Given the description of an element on the screen output the (x, y) to click on. 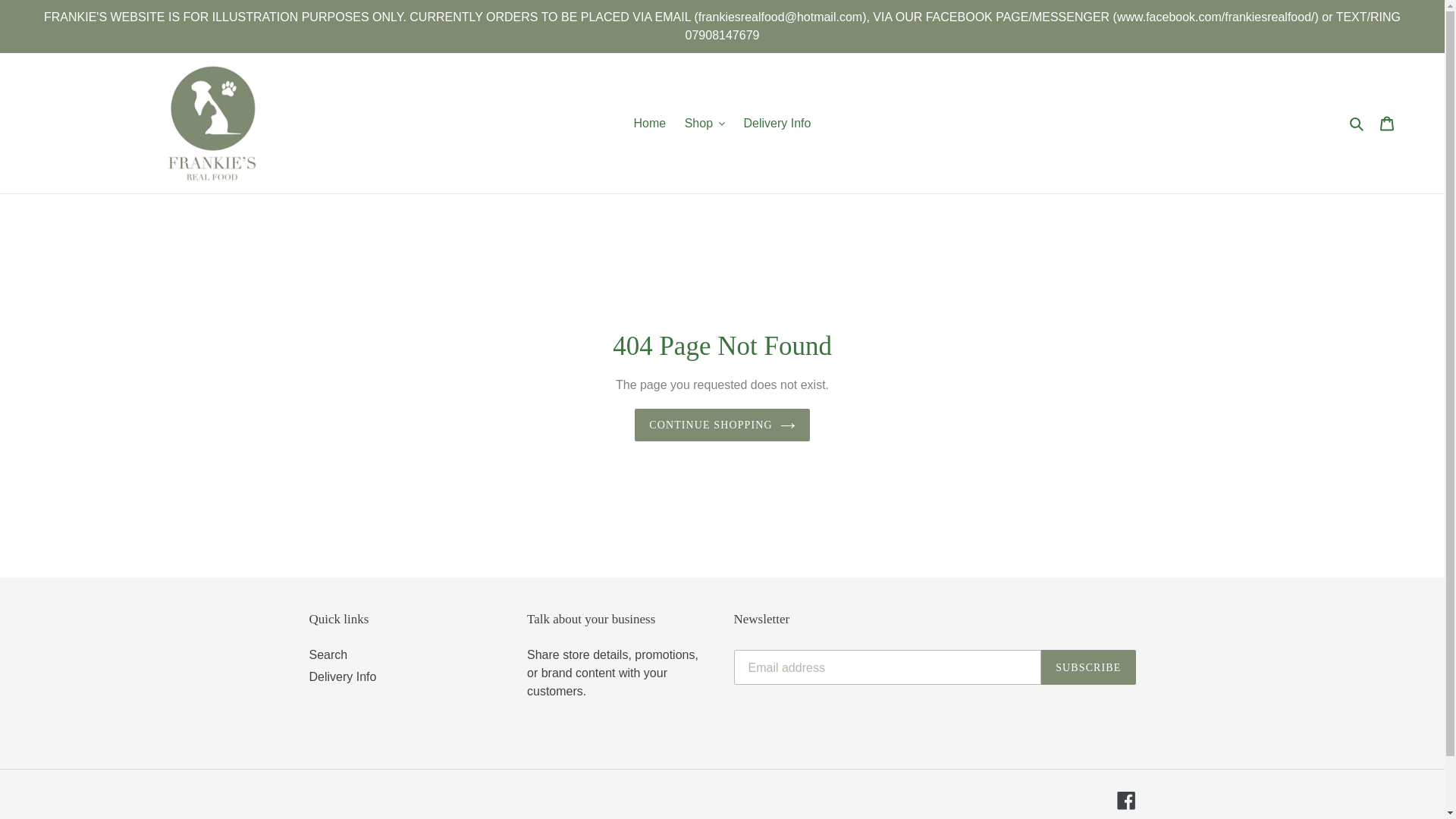
Delivery Info (777, 123)
Search (1357, 123)
Home (650, 123)
Shop (704, 123)
Cart (1387, 122)
